Given the description of an element on the screen output the (x, y) to click on. 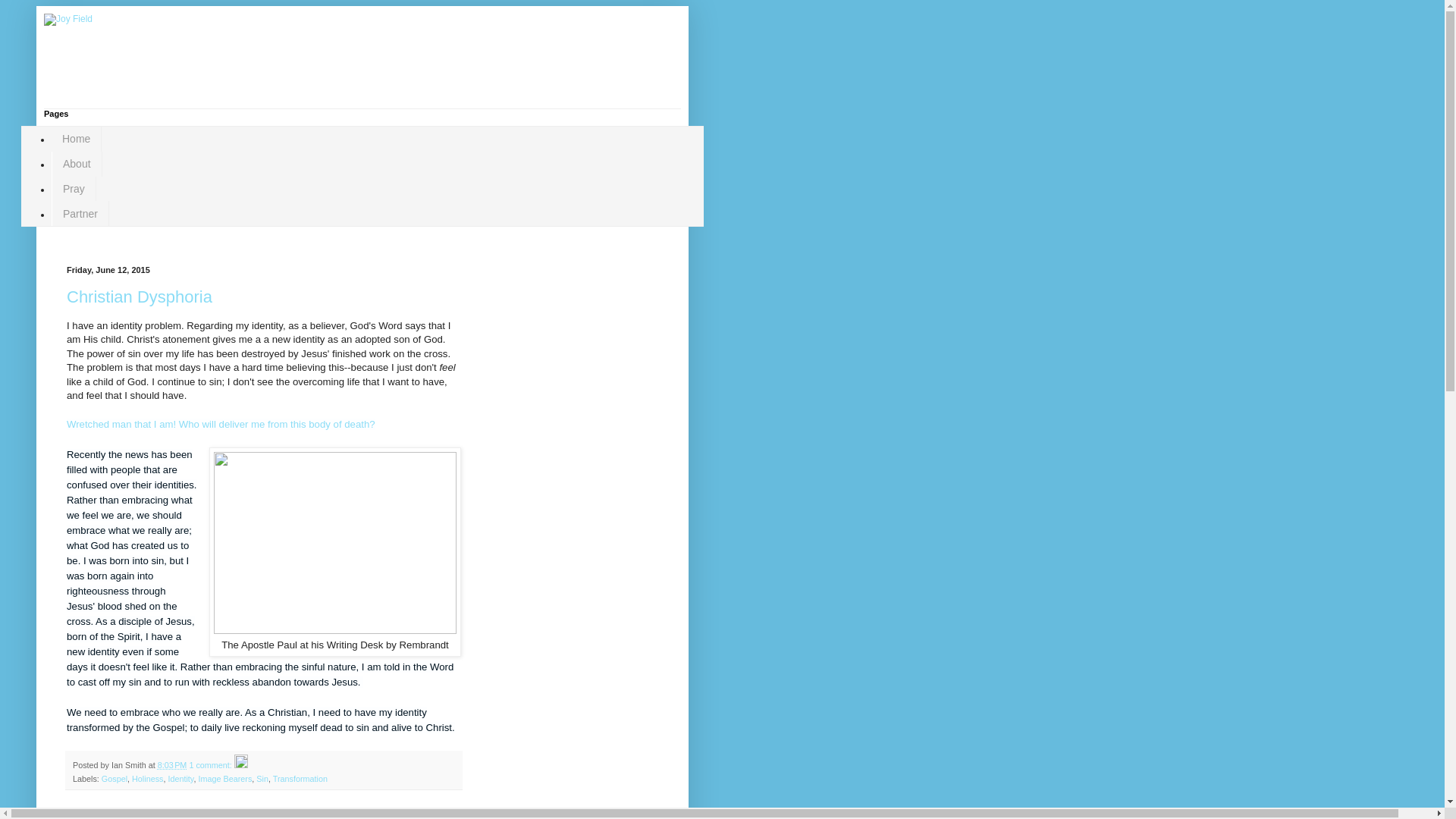
Gospel (114, 777)
About (75, 163)
Home (201, 812)
Christian Dysphoria (139, 296)
Partner (79, 213)
Newer Posts (95, 812)
Older Posts (155, 812)
permanent link (172, 764)
Edit Post (240, 764)
Sin (261, 777)
Pray (73, 188)
Holiness (147, 777)
Image Bearers (224, 777)
